Given the description of an element on the screen output the (x, y) to click on. 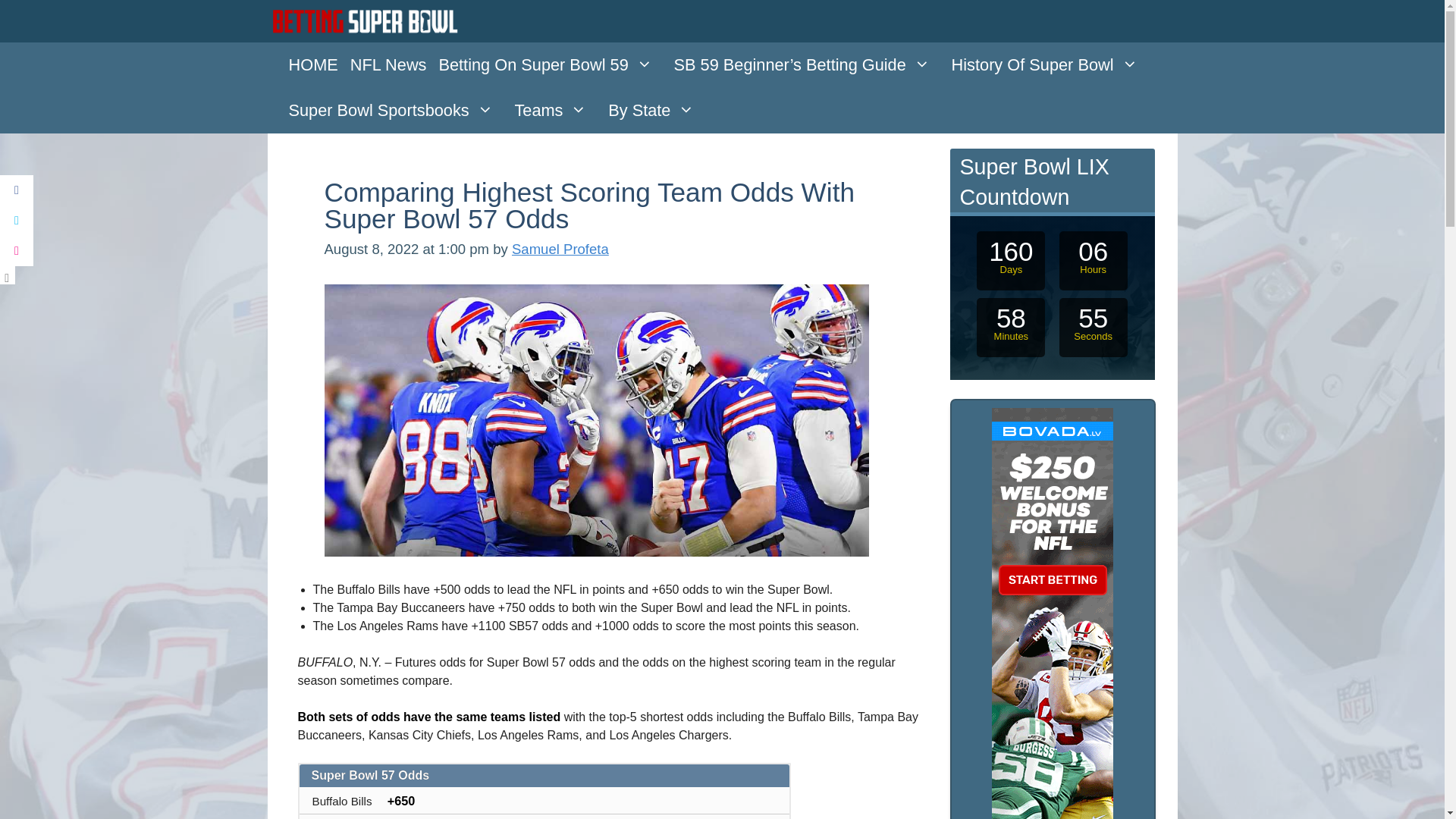
HOME (312, 64)
1:00 pm (408, 248)
Betting On Super Bowl 59 (549, 64)
NFL News (387, 64)
View all posts by Samuel Profeta (560, 248)
